Given the description of an element on the screen output the (x, y) to click on. 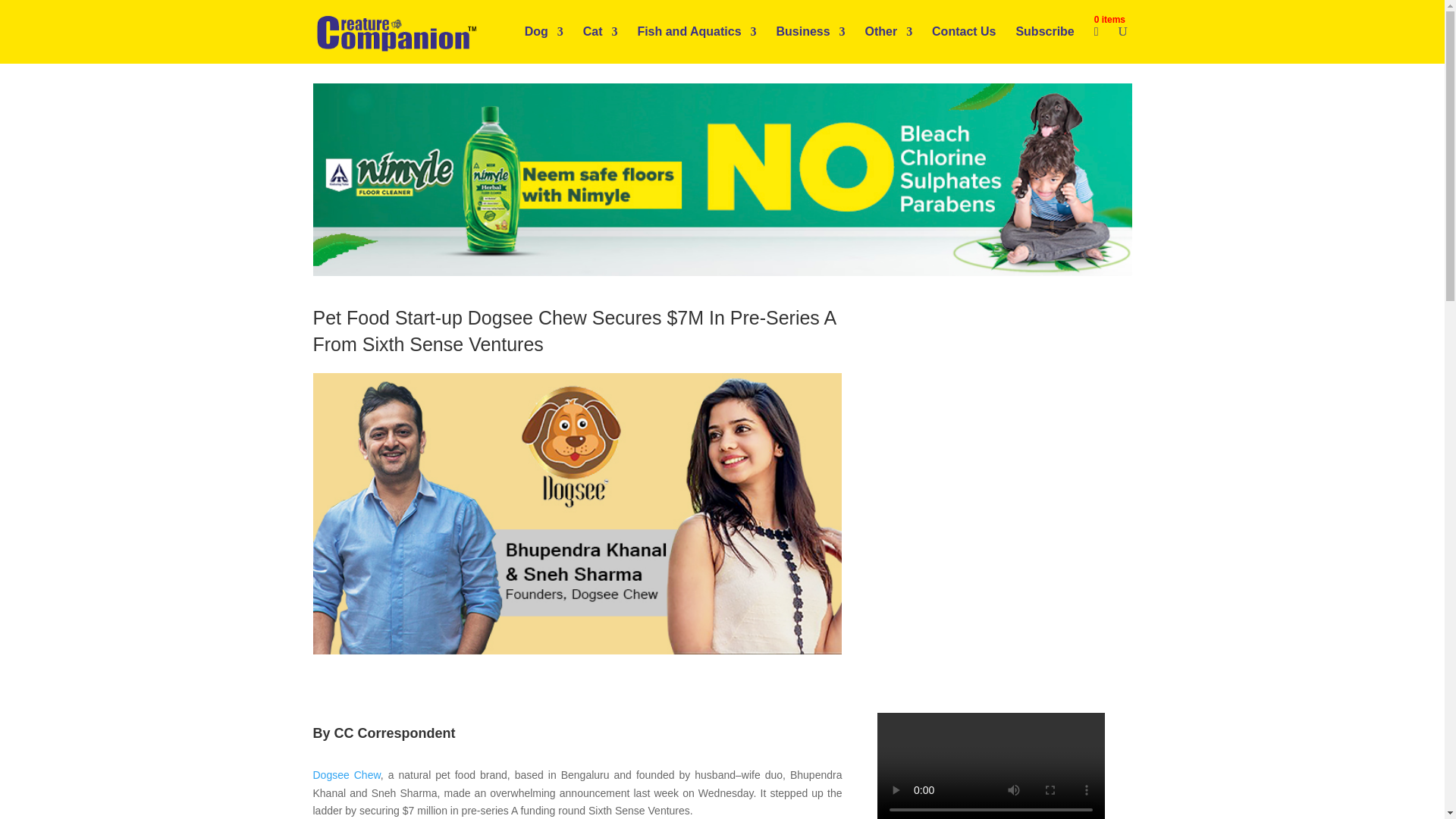
Cat (600, 44)
Contact Us (963, 44)
Business (810, 44)
Dog (543, 44)
Dogsee Chew (346, 775)
Subscribe (1044, 44)
Fish and Aquatics (696, 44)
Other (888, 44)
